Given the description of an element on the screen output the (x, y) to click on. 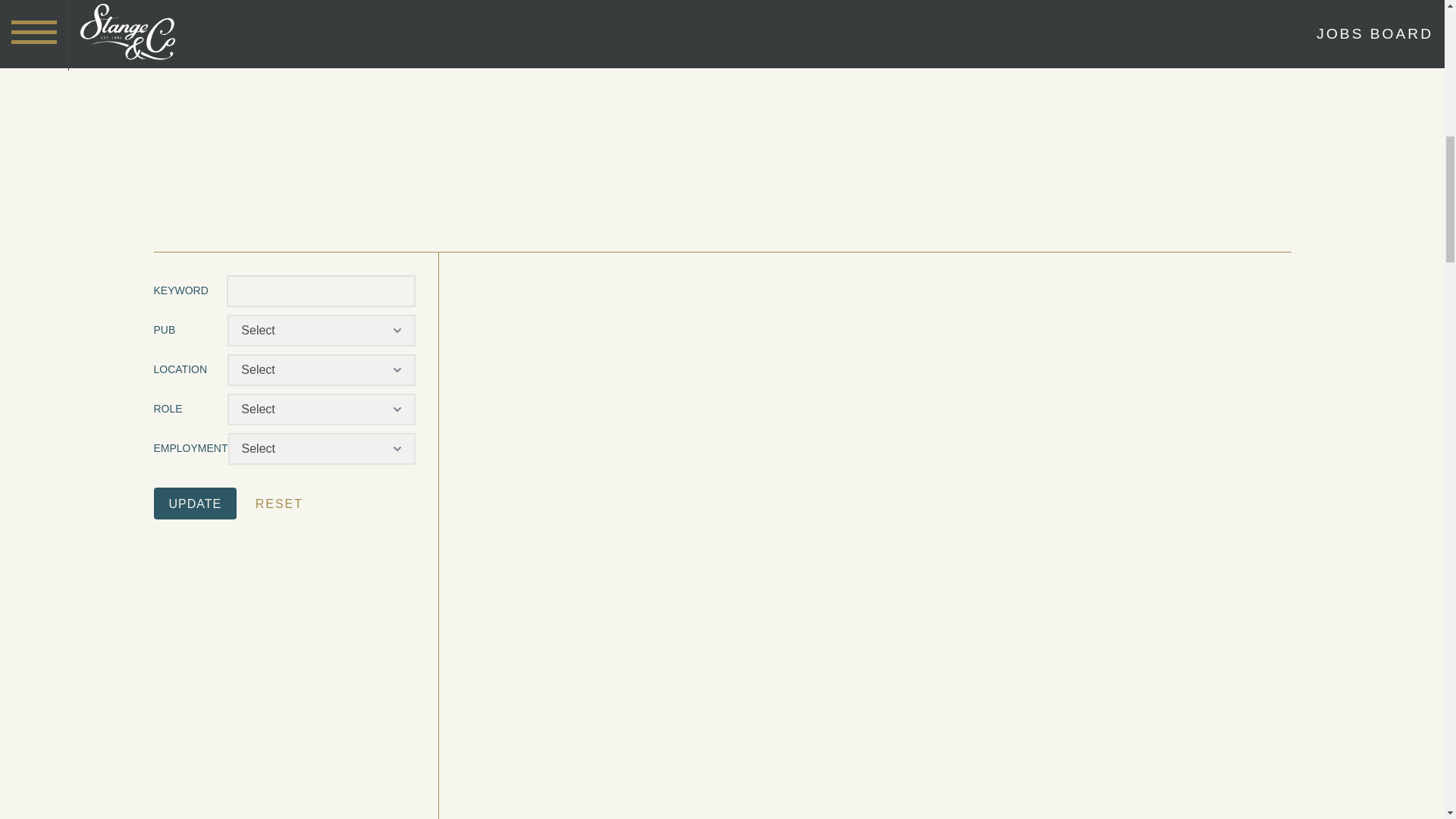
RESET (279, 503)
update (193, 503)
update (193, 503)
